Given the description of an element on the screen output the (x, y) to click on. 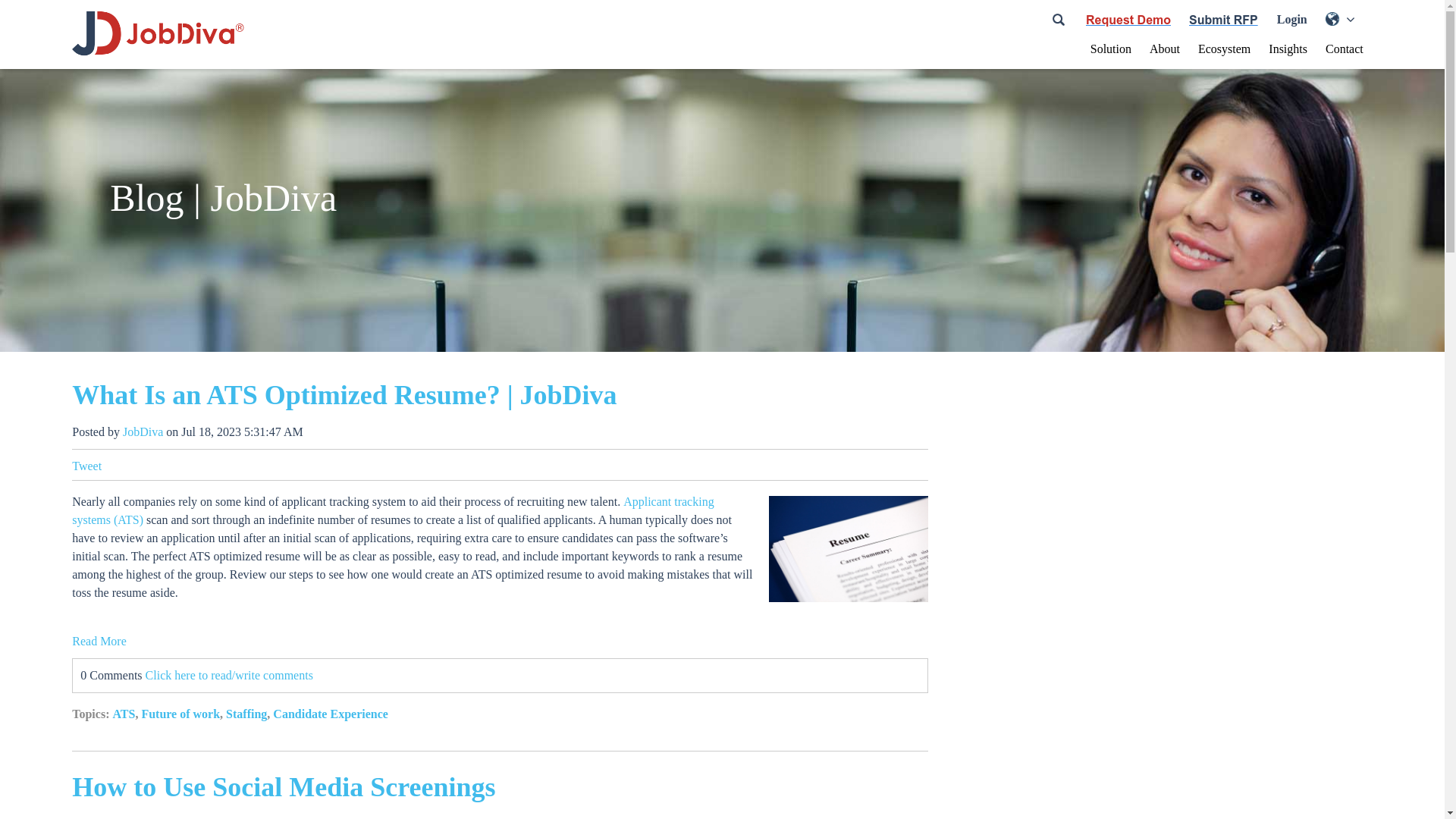
Login (1291, 19)
Insights (1287, 49)
Contact (1344, 49)
Ecosystem (1224, 49)
About (1164, 49)
Solution (1110, 49)
